Given the description of an element on the screen output the (x, y) to click on. 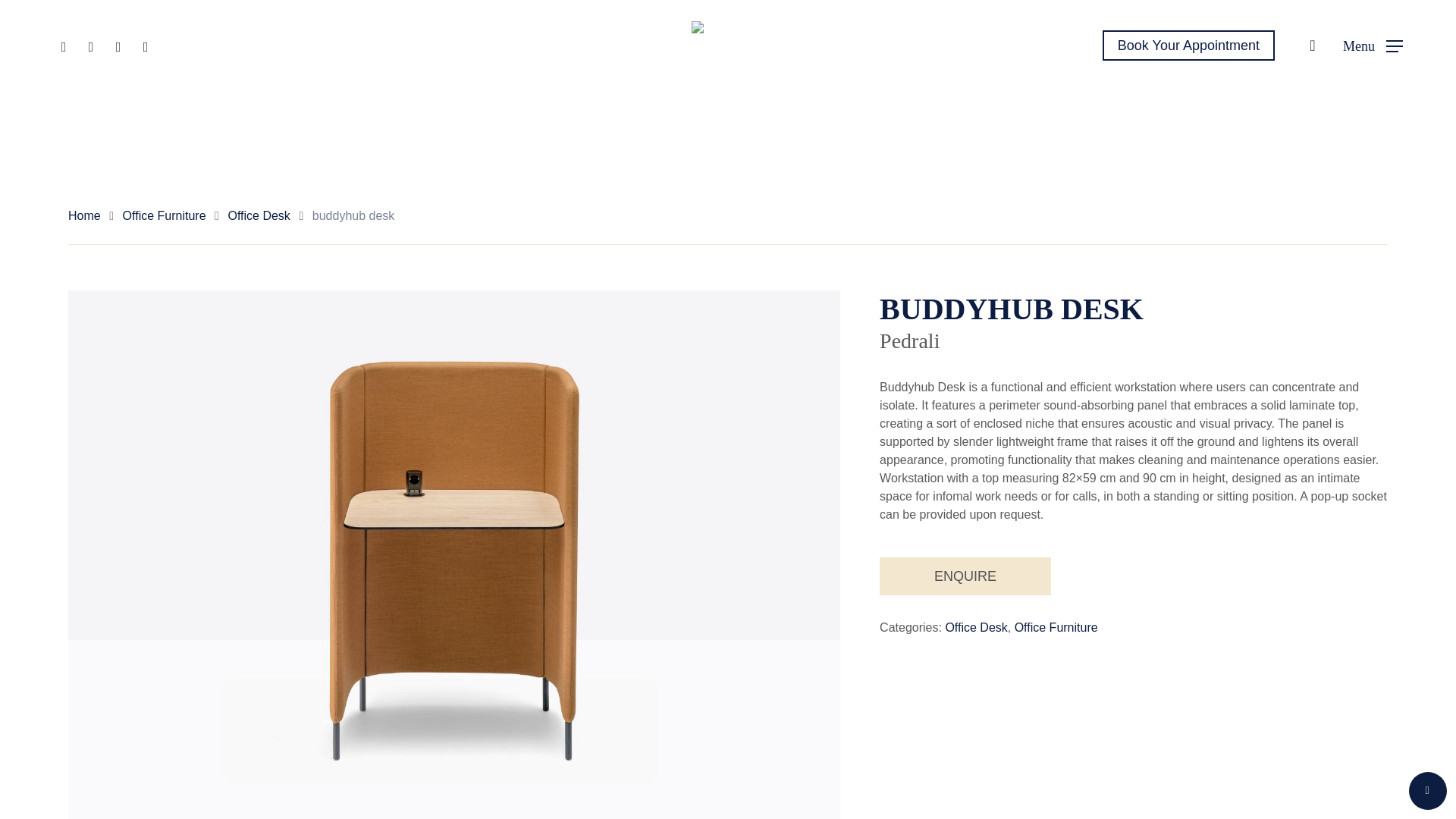
Office Furniture (1055, 626)
Office Desk (975, 626)
Book Your Appointment (1188, 45)
facebook (63, 45)
Office Furniture (164, 215)
youtube (118, 45)
instagram (145, 45)
linkedin (90, 45)
Home (84, 215)
Office Desk (258, 215)
